Given the description of an element on the screen output the (x, y) to click on. 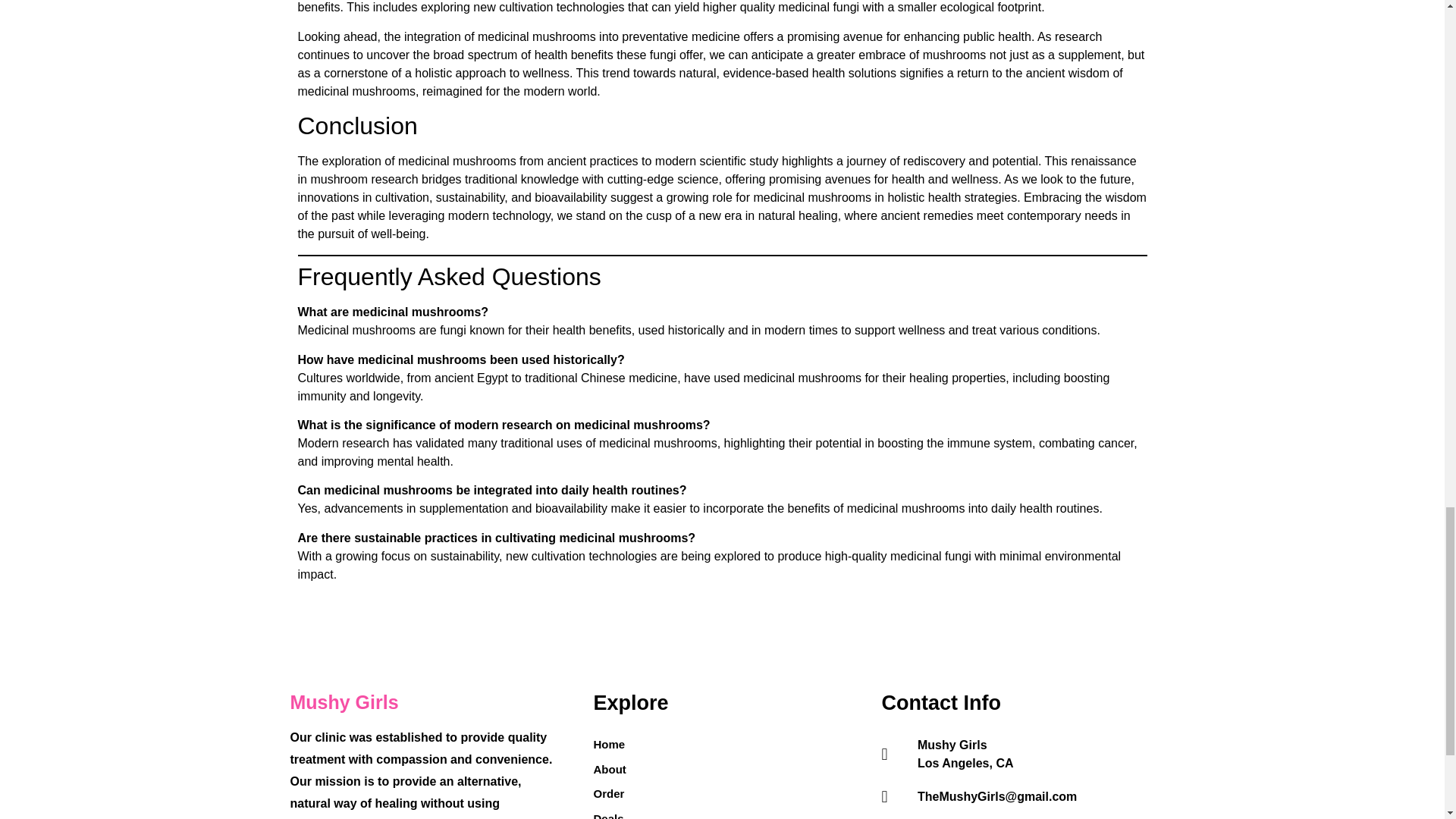
About (609, 769)
Home (609, 744)
Order (609, 794)
